Given the description of an element on the screen output the (x, y) to click on. 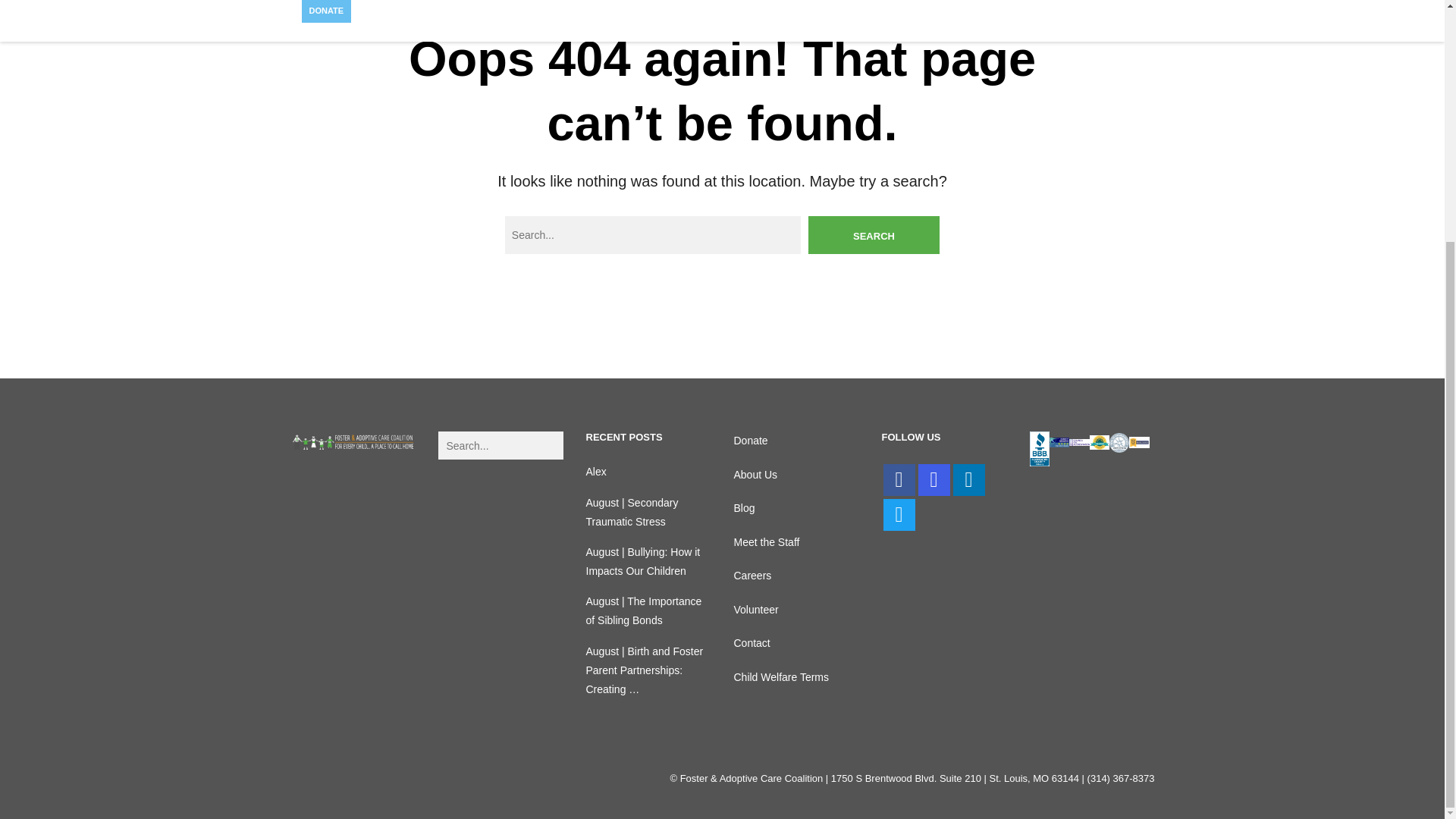
facebook (898, 480)
Search (873, 234)
twitter (898, 514)
instagram (933, 480)
Search (873, 234)
linkedin (968, 480)
